Given the description of an element on the screen output the (x, y) to click on. 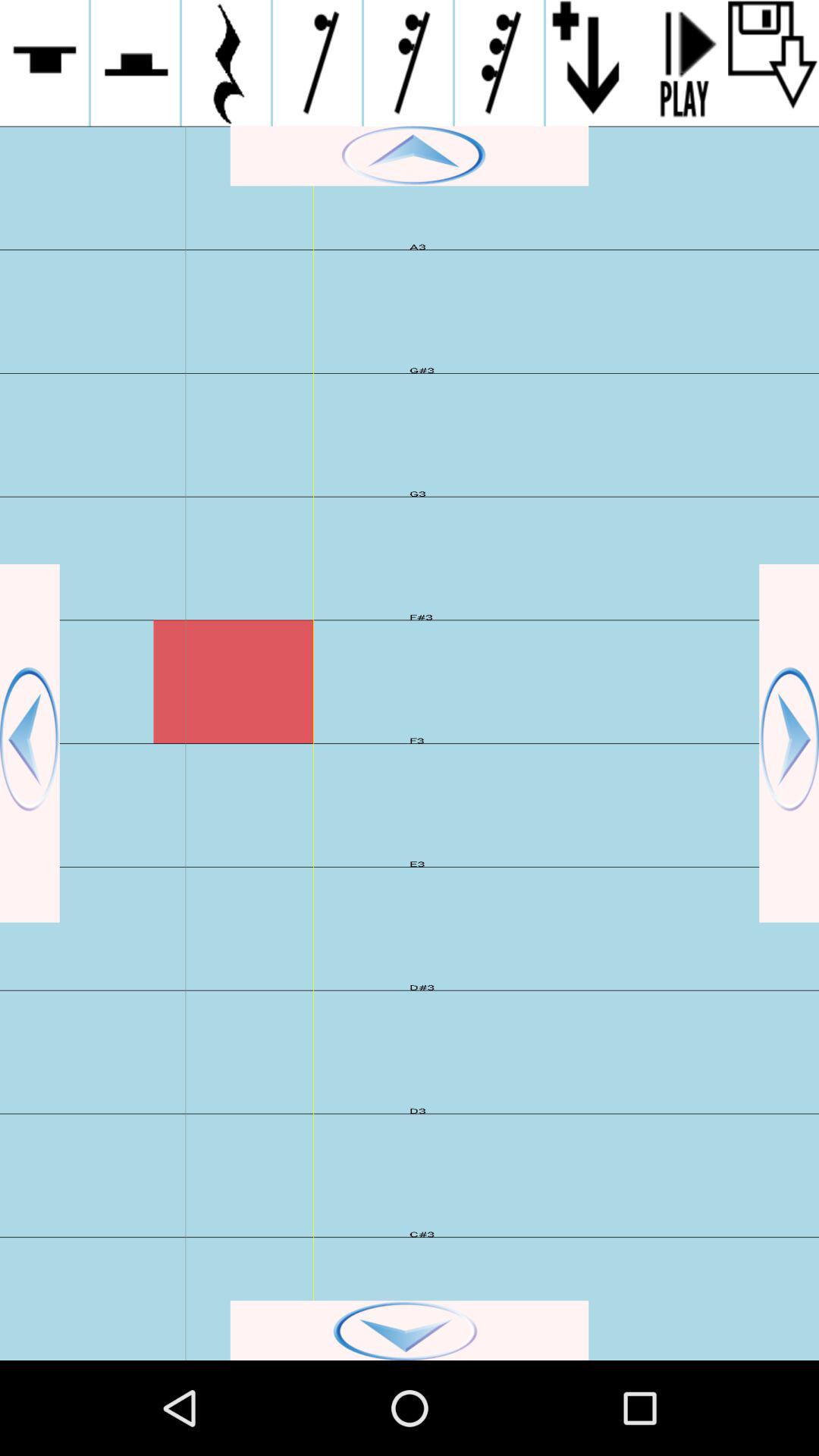
play option (682, 63)
